Given the description of an element on the screen output the (x, y) to click on. 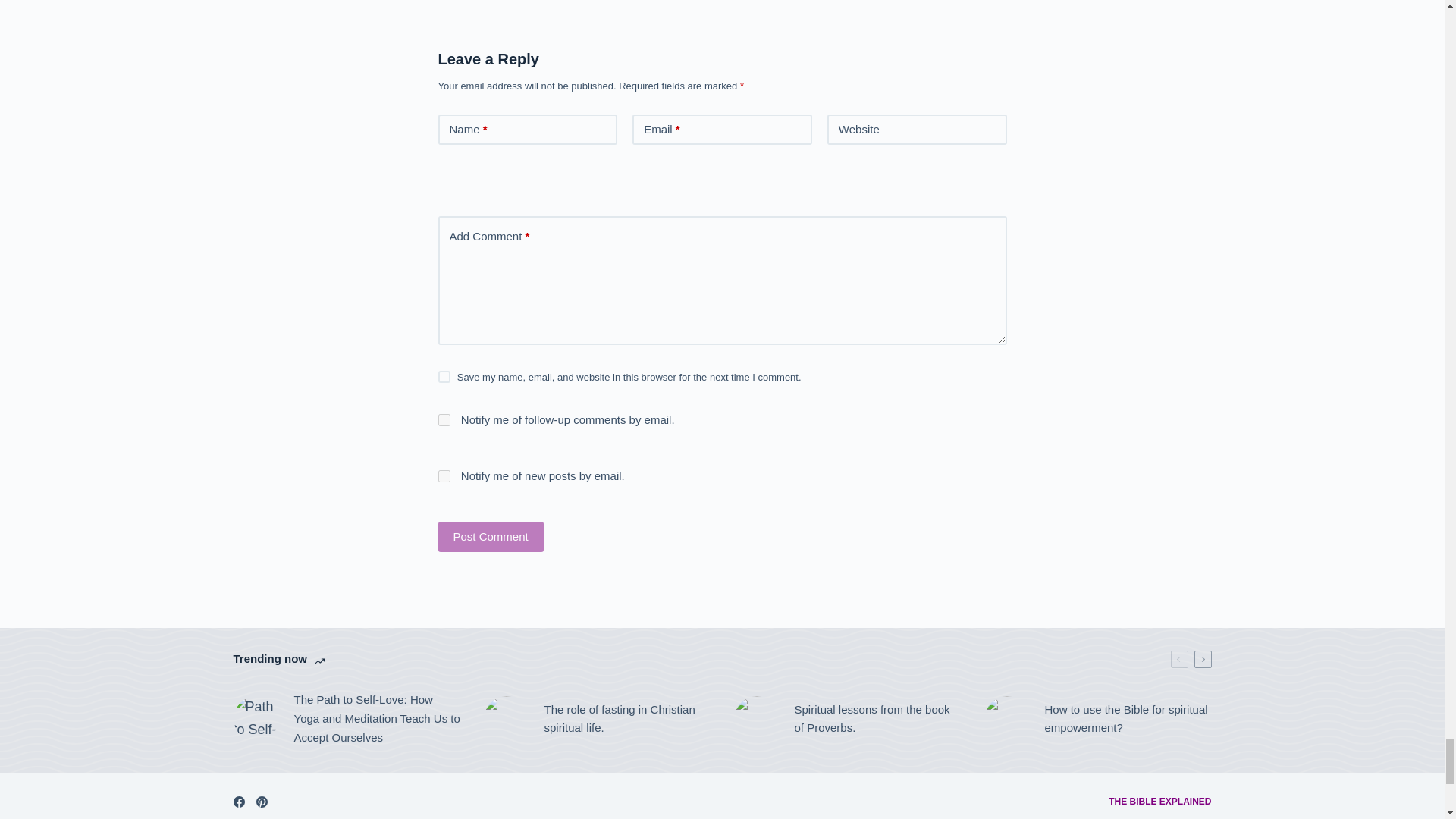
yes (443, 377)
subscribe (443, 476)
subscribe (443, 419)
